Given the description of an element on the screen output the (x, y) to click on. 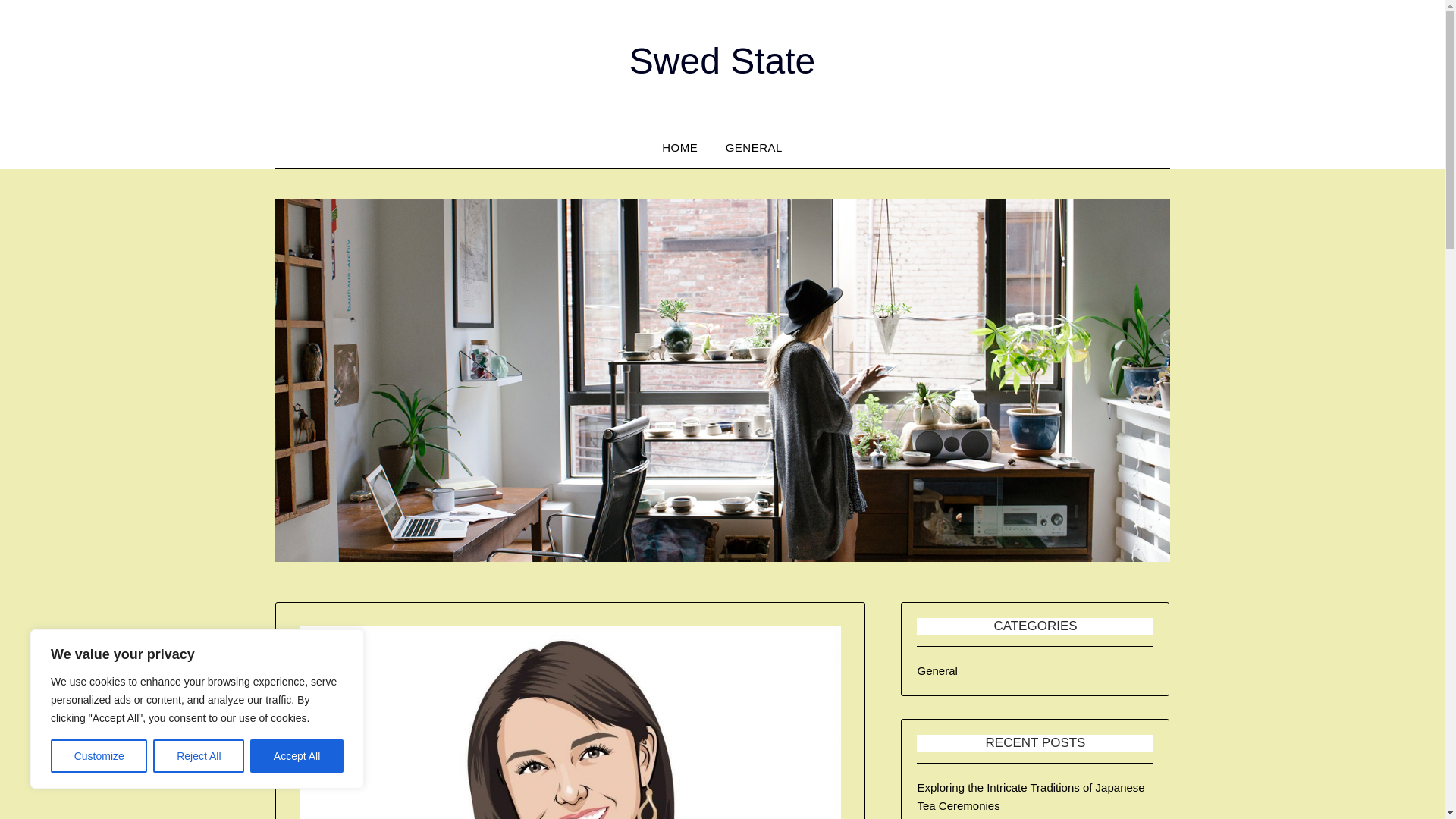
General (936, 670)
HOME (679, 147)
Swed State (721, 60)
Customize (98, 756)
Accept All (296, 756)
GENERAL (753, 147)
Reject All (198, 756)
